Given the description of an element on the screen output the (x, y) to click on. 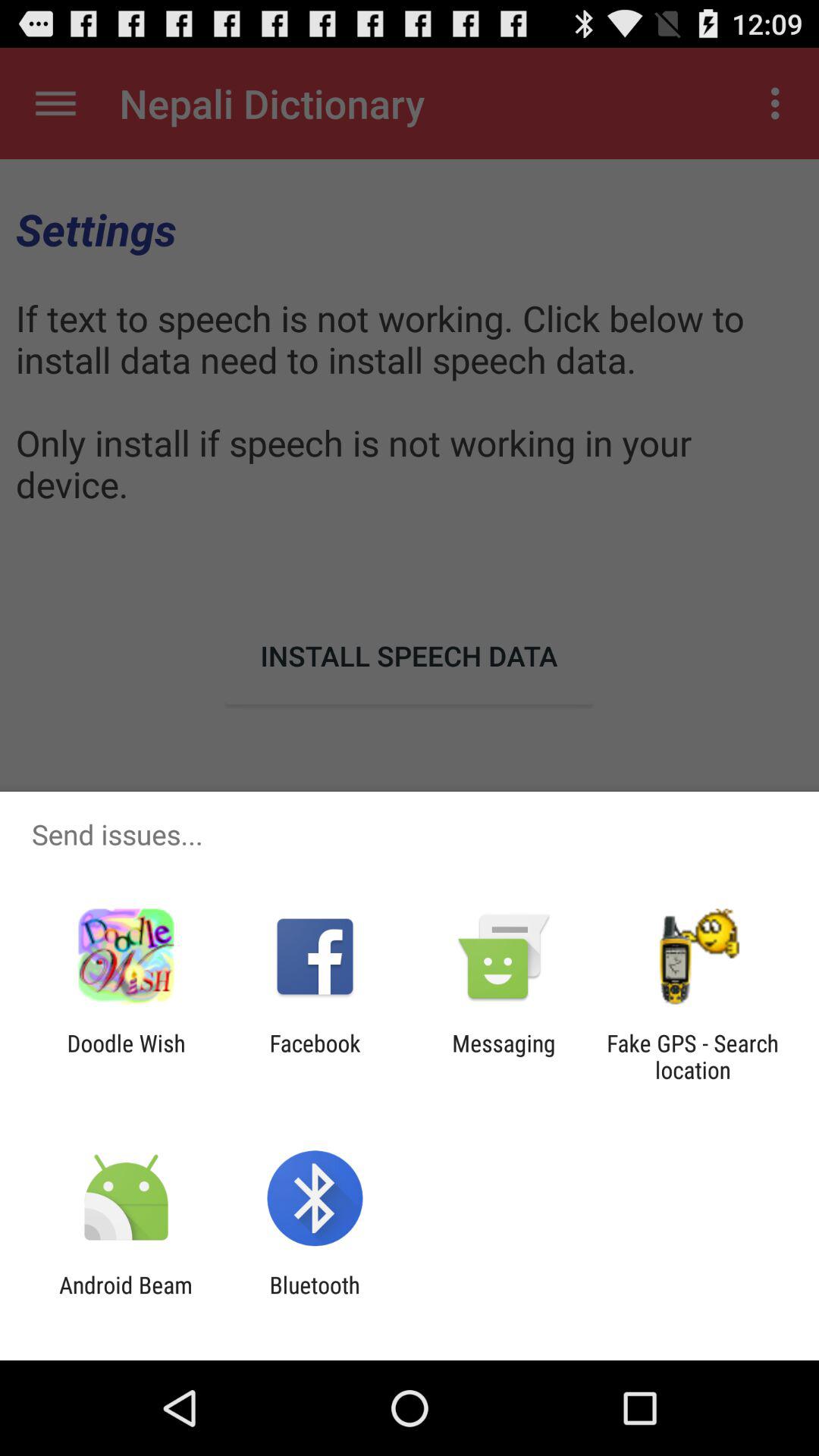
turn on the doodle wish icon (126, 1056)
